Given the description of an element on the screen output the (x, y) to click on. 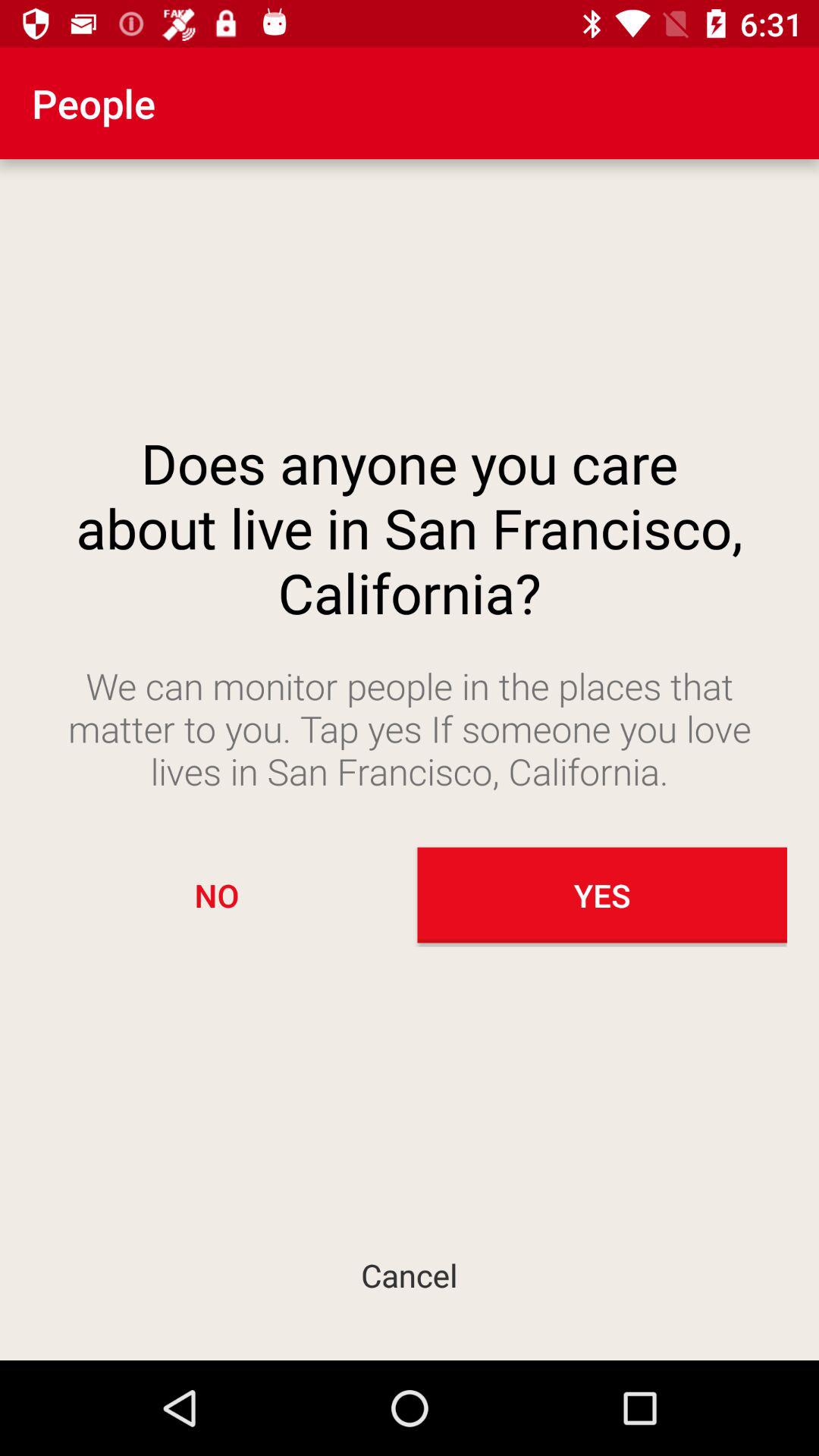
select item to the left of the yes item (216, 894)
